Given the description of an element on the screen output the (x, y) to click on. 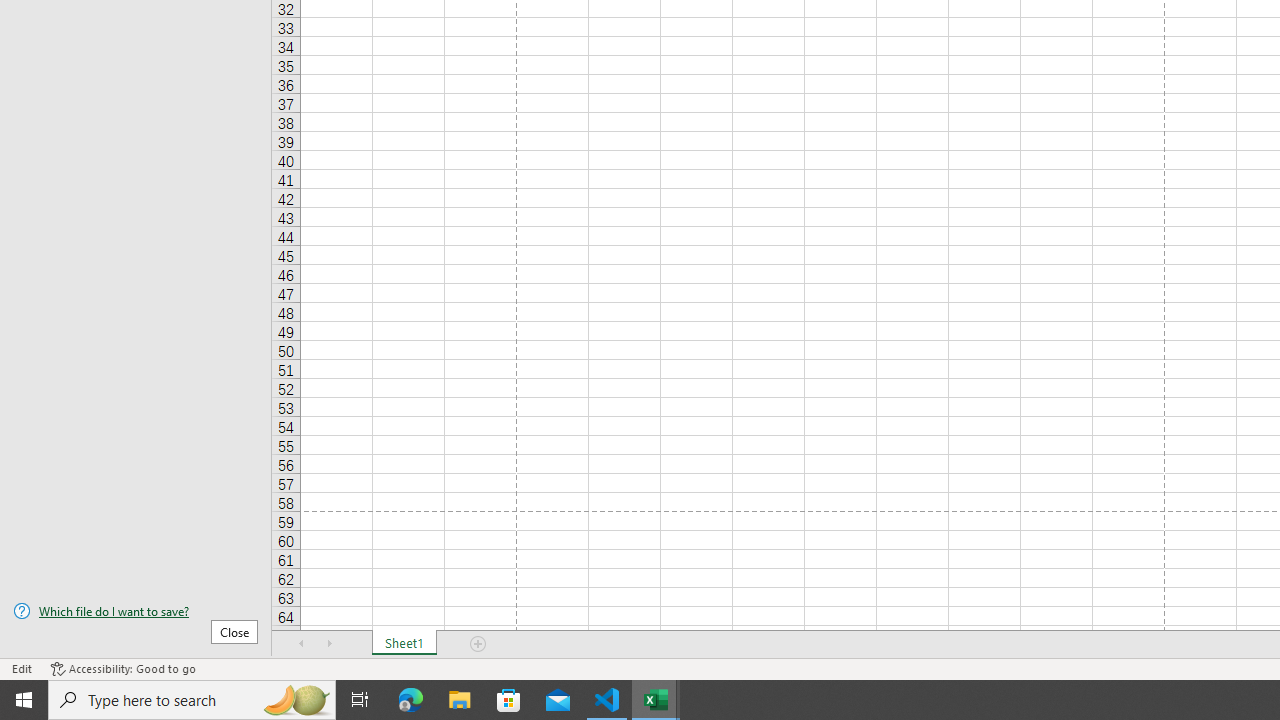
Task View (359, 699)
Search highlights icon opens search home window (295, 699)
Excel - 2 running windows (656, 699)
Microsoft Store (509, 699)
Type here to search (191, 699)
Visual Studio Code - 1 running window (607, 699)
File Explorer (460, 699)
Start (24, 699)
